Given the description of an element on the screen output the (x, y) to click on. 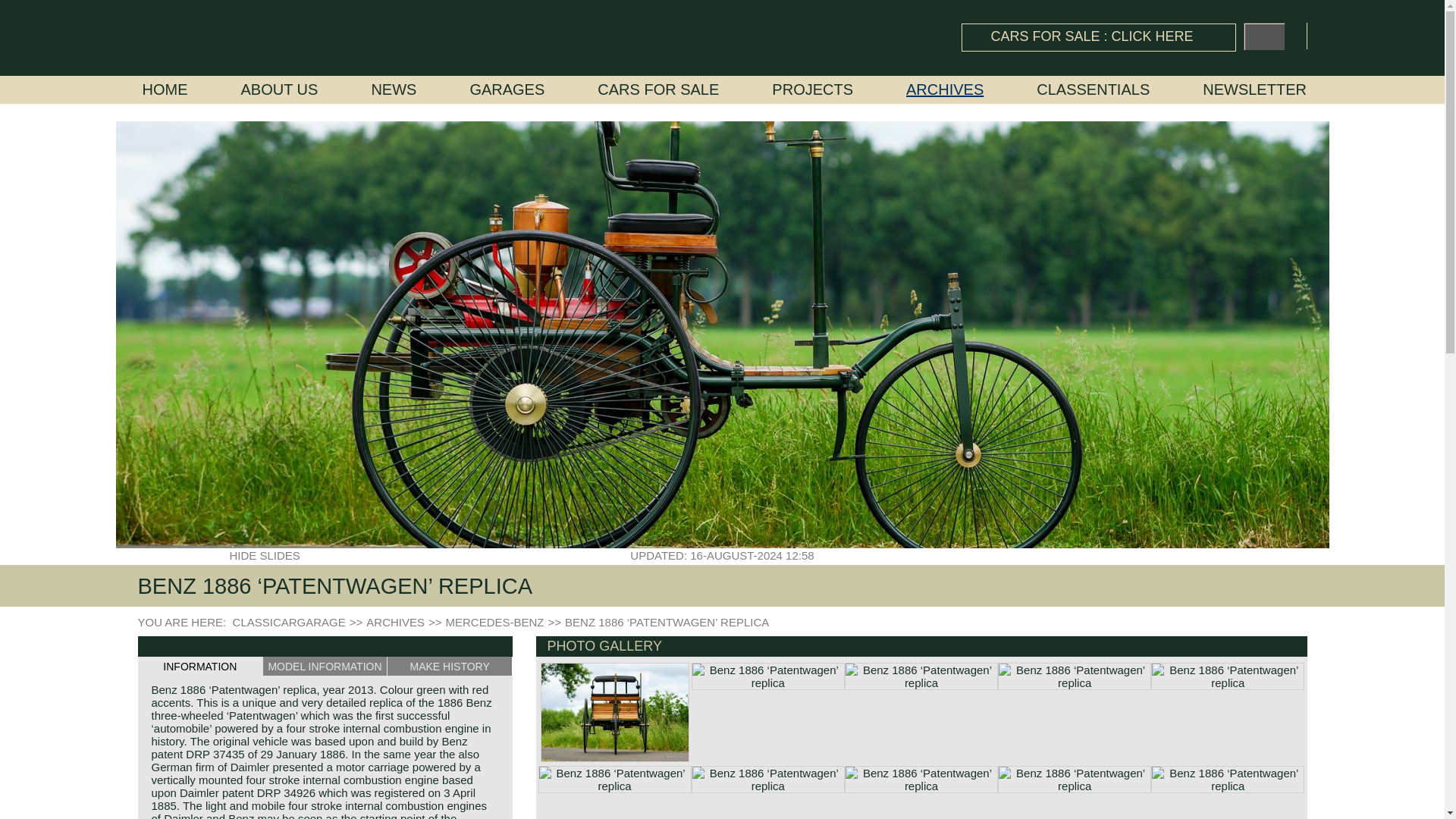
PROJECTS (812, 89)
HOME (164, 89)
Archives (944, 89)
Newsletter (1254, 89)
Garages (506, 89)
CARS FOR SALE (657, 89)
Projects (812, 89)
CLASSENTIALS (1093, 89)
GARAGES (506, 89)
